Given the description of an element on the screen output the (x, y) to click on. 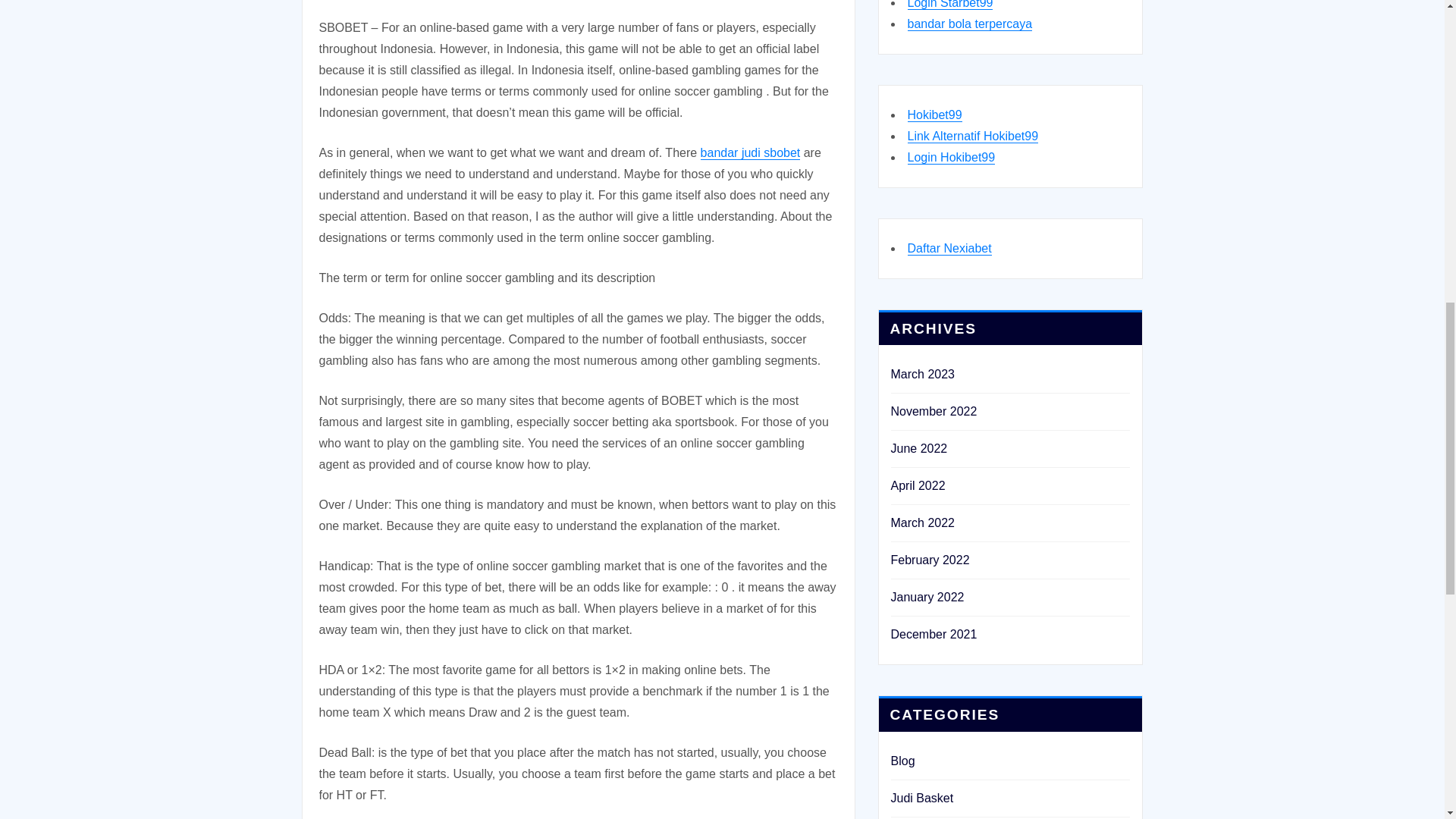
June 2022 (918, 448)
Login Hokibet99 (950, 156)
Hokibet99 (933, 114)
bandar judi sbobet (750, 152)
Judi Basket (921, 797)
December 2021 (932, 634)
Login Starbet99 (949, 4)
January 2022 (926, 596)
Link Alternatif Hokibet99 (972, 135)
March 2022 (922, 522)
Daftar Nexiabet (949, 247)
bandar bola terpercaya (969, 23)
Blog (901, 759)
November 2022 (932, 410)
March 2023 (922, 373)
